Given the description of an element on the screen output the (x, y) to click on. 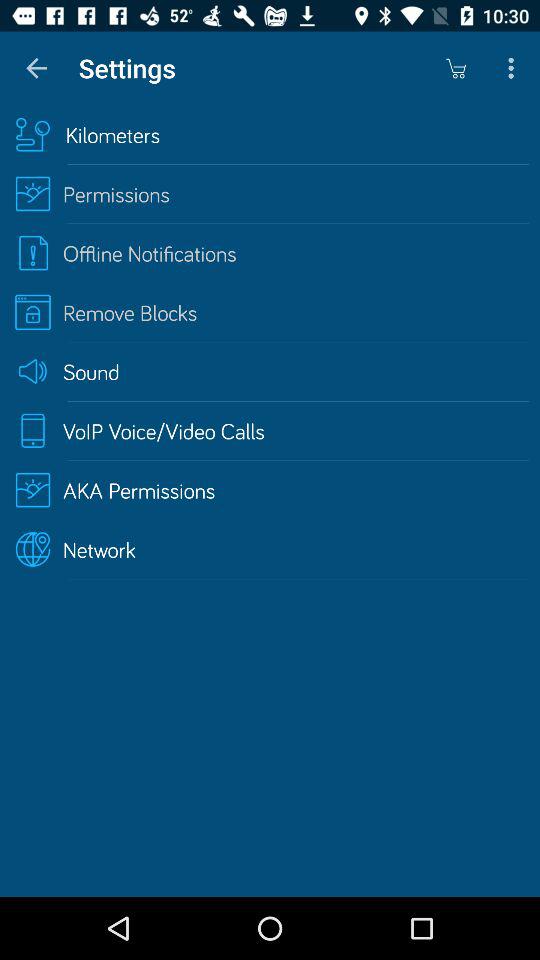
turn on icon next to the settings icon (455, 67)
